Given the description of an element on the screen output the (x, y) to click on. 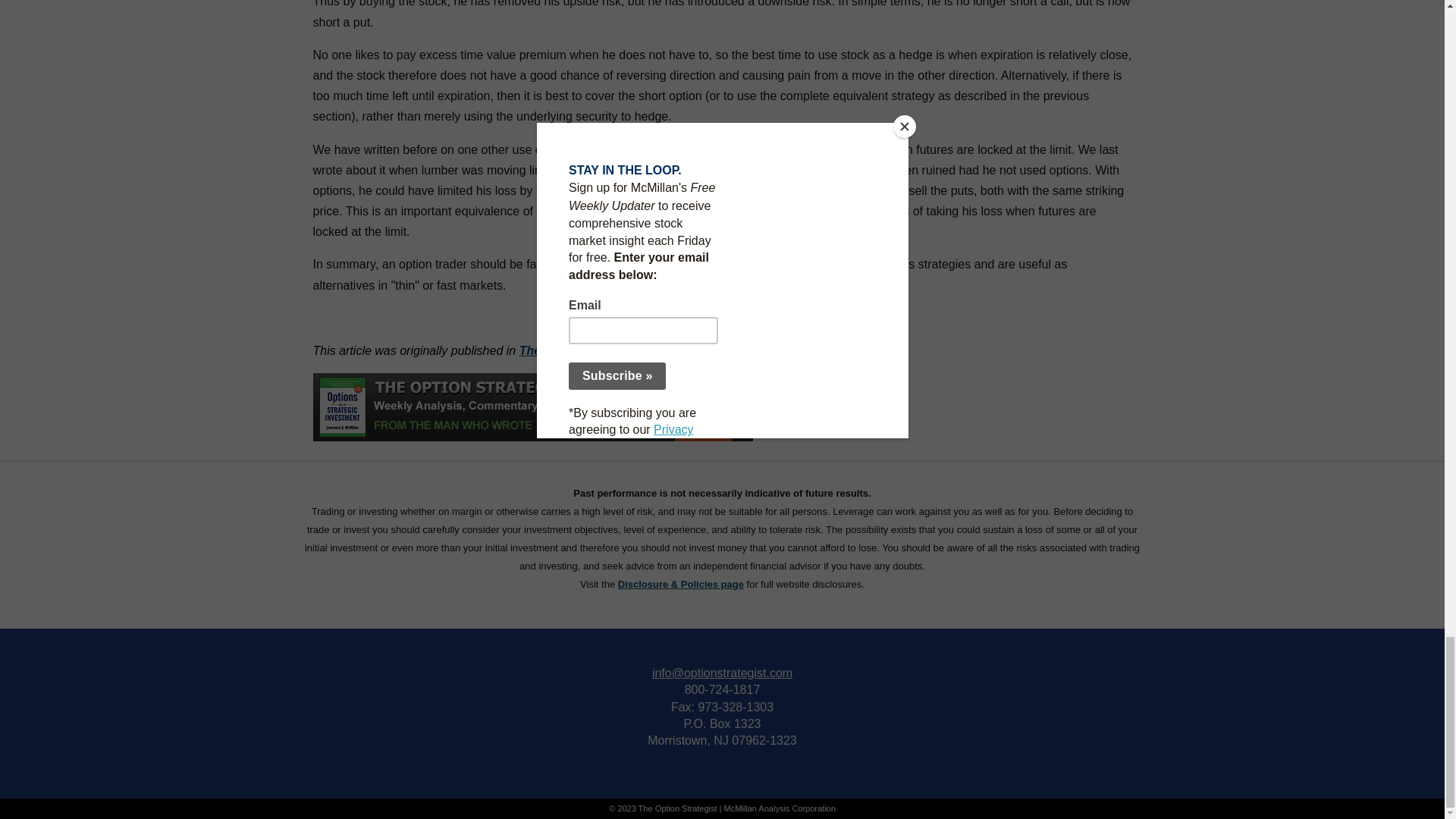
Call with Google Voice (722, 689)
Call with Google Voice (735, 707)
The Option Strategist Newsletter (613, 350)
